Given the description of an element on the screen output the (x, y) to click on. 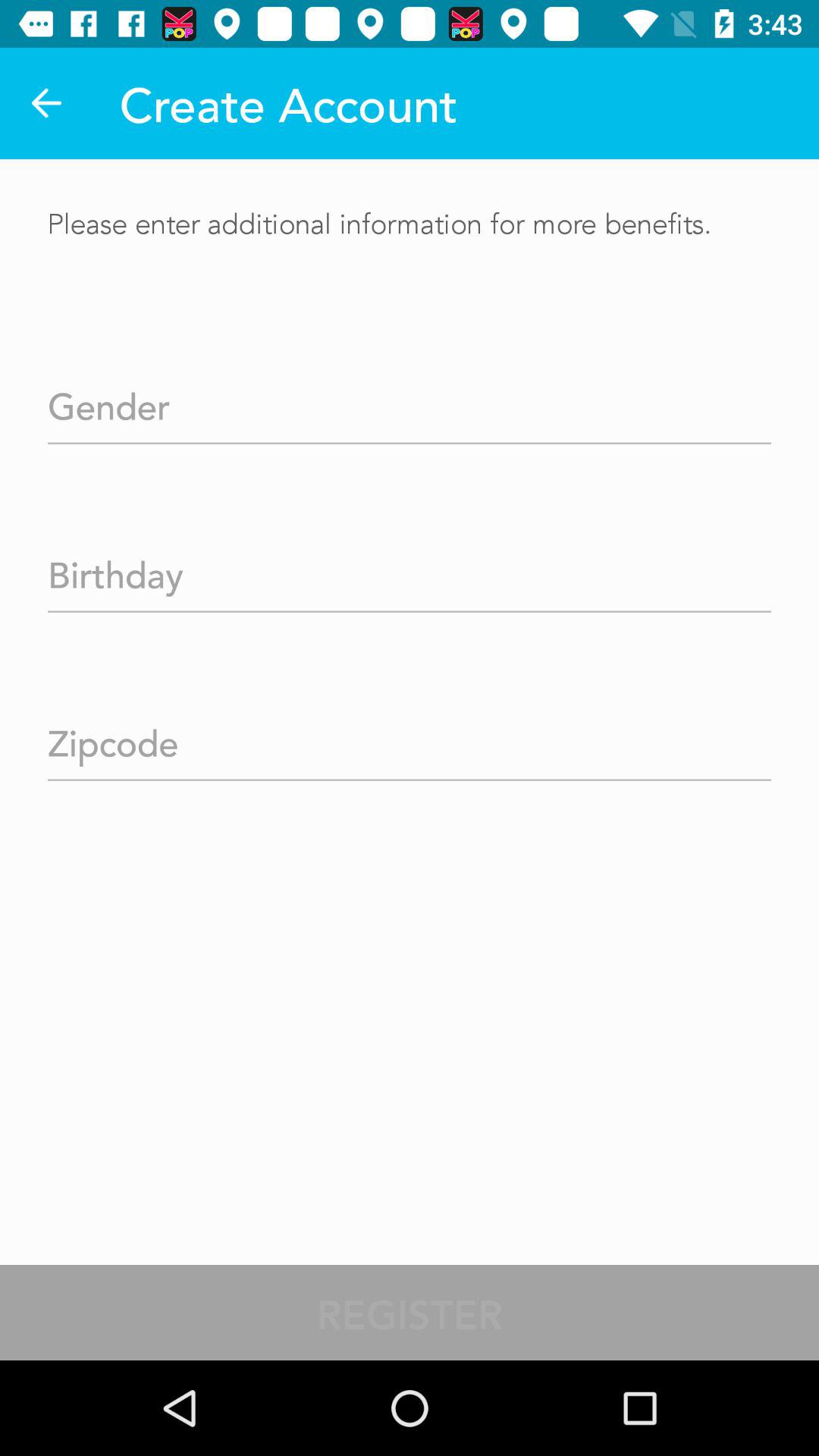
enter zipcode (409, 738)
